Given the description of an element on the screen output the (x, y) to click on. 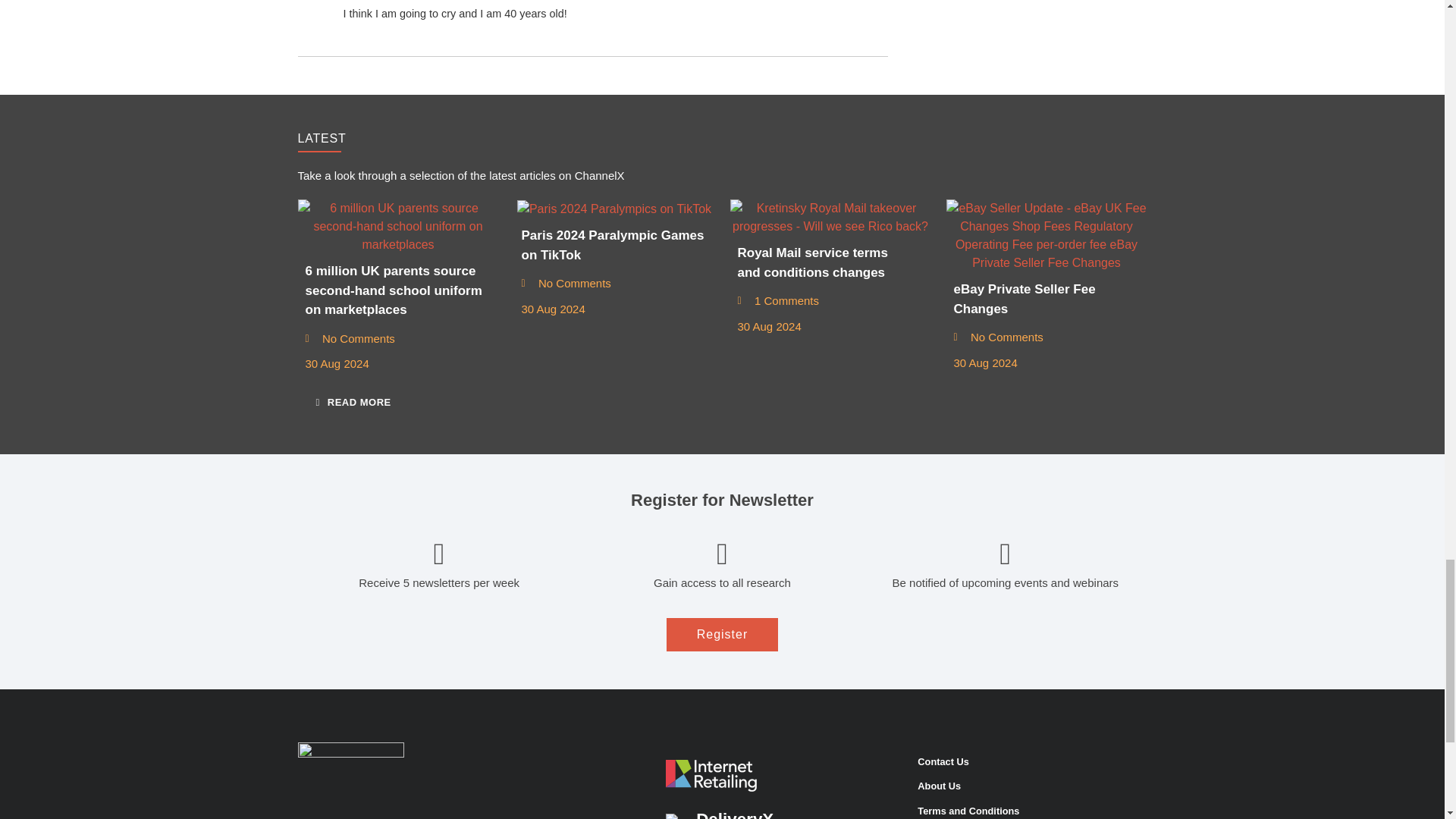
TikTok Teams-up with International Paralympic Committee (613, 208)
eBay-Seller-Release-Fees (1046, 235)
